Given the description of an element on the screen output the (x, y) to click on. 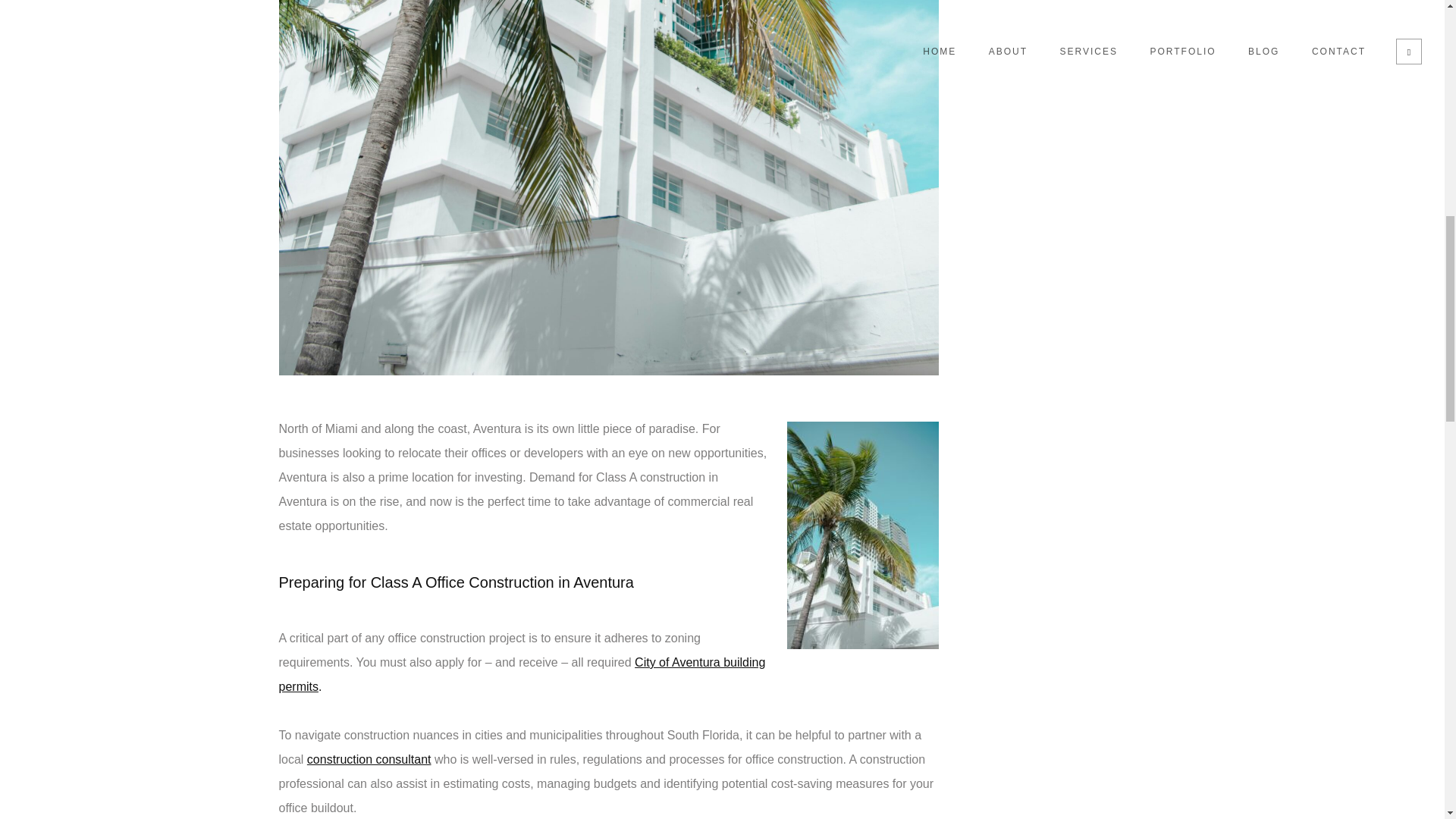
construction consultant  (370, 758)
City of Aventura building permits. (522, 674)
